Given the description of an element on the screen output the (x, y) to click on. 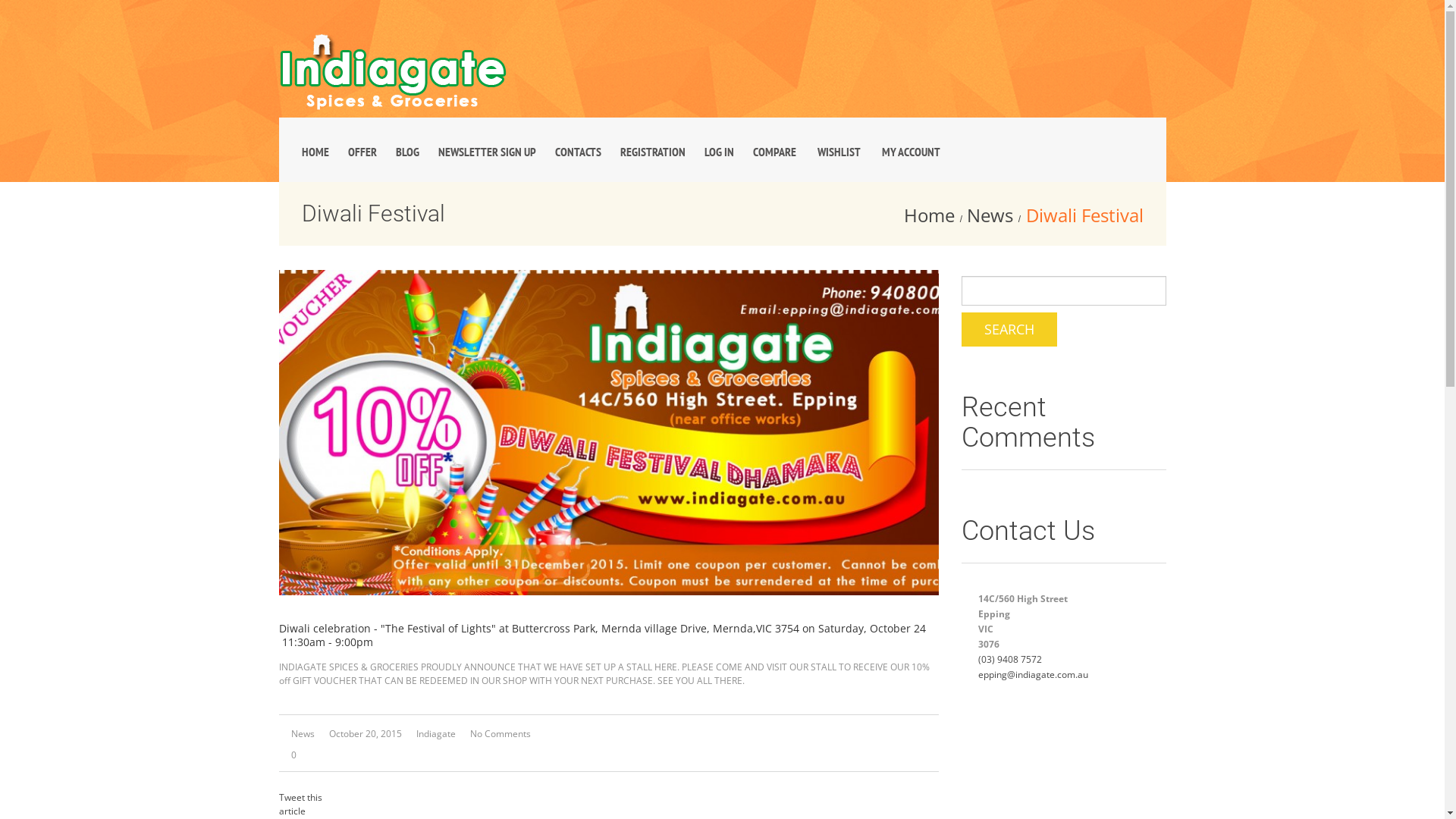
NEWSLETTER SIGN UP Element type: text (487, 151)
LOG IN Element type: text (718, 151)
COMPARE Element type: text (773, 151)
MY ACCOUNT Element type: text (910, 151)
(03) 9408 7572 Element type: text (1009, 658)
CONTACTS Element type: text (578, 151)
BLOG Element type: text (407, 151)
Tweet this article Element type: text (300, 803)
REGISTRATION Element type: text (652, 151)
News Element type: text (302, 733)
OFFER Element type: text (361, 151)
News Element type: text (989, 214)
search Element type: text (1009, 329)
WISHLIST Element type: text (838, 151)
epping@indiagate.com.au Element type: text (1033, 674)
Indiagate Element type: text (435, 733)
HOME Element type: text (315, 151)
No Comments Element type: text (500, 733)
0 Element type: text (291, 754)
Home Element type: text (928, 214)
